Given the description of an element on the screen output the (x, y) to click on. 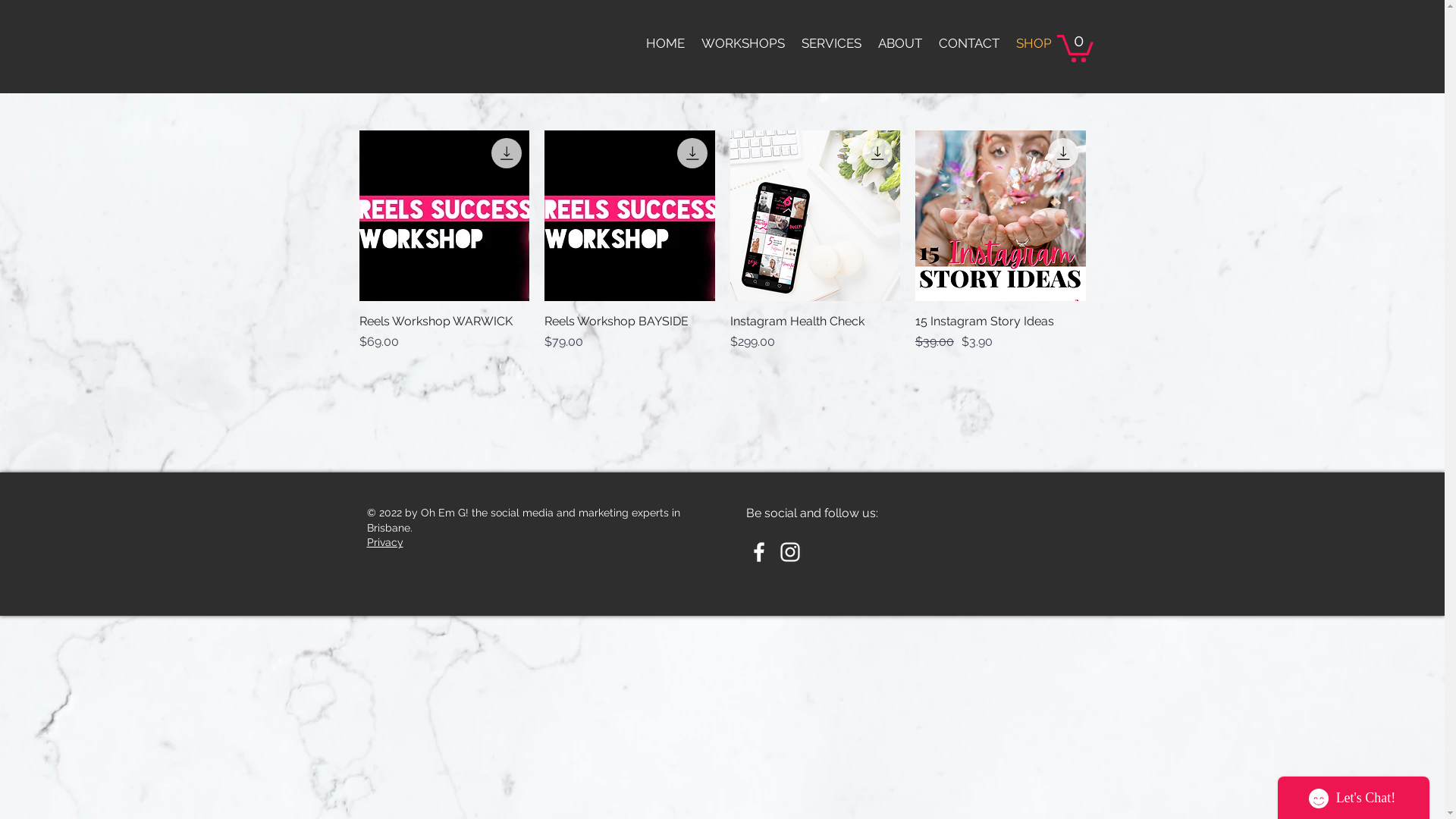
ABOUT Element type: text (899, 42)
Privacy Element type: text (385, 542)
Reels Workshop BAYSIDE
Price
$79.00 Element type: text (629, 332)
Instagram Health Check
Price
$299.00 Element type: text (814, 332)
SERVICES Element type: text (831, 42)
0 Element type: text (1075, 46)
HOME Element type: text (664, 42)
CONTACT Element type: text (968, 42)
SHOP Element type: text (1033, 42)
WORKSHOPS Element type: text (743, 42)
Reels Workshop WARWICK
Price
$69.00 Element type: text (444, 332)
